Given the description of an element on the screen output the (x, y) to click on. 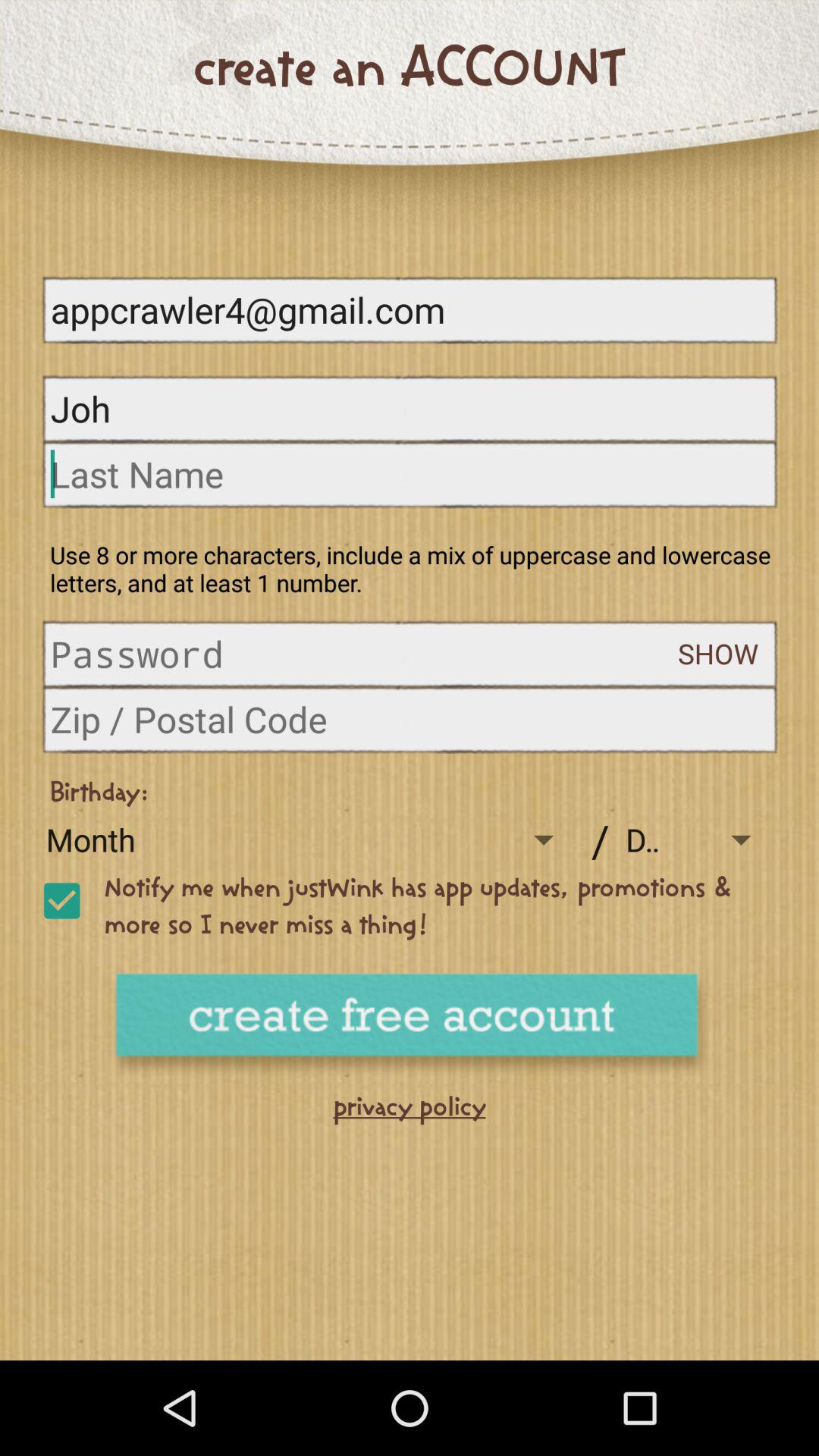
open the file (363, 653)
